Given the description of an element on the screen output the (x, y) to click on. 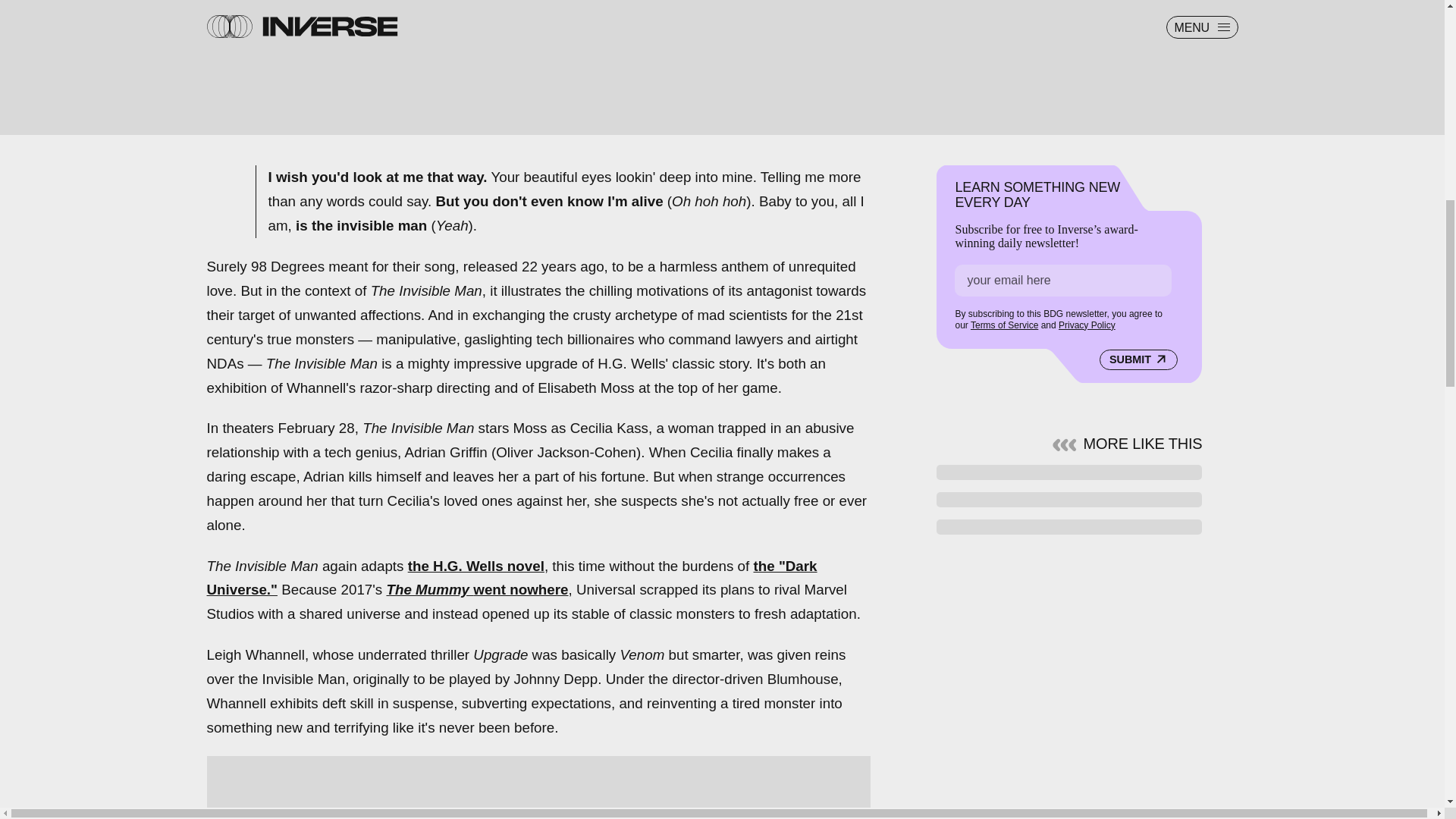
the H.G. Wells novel (475, 565)
the "Dark Universe." (511, 577)
Privacy Policy (1086, 325)
Terms of Service (1004, 325)
The Mummy went nowhere (476, 589)
SUBMIT (1138, 360)
